Given the description of an element on the screen output the (x, y) to click on. 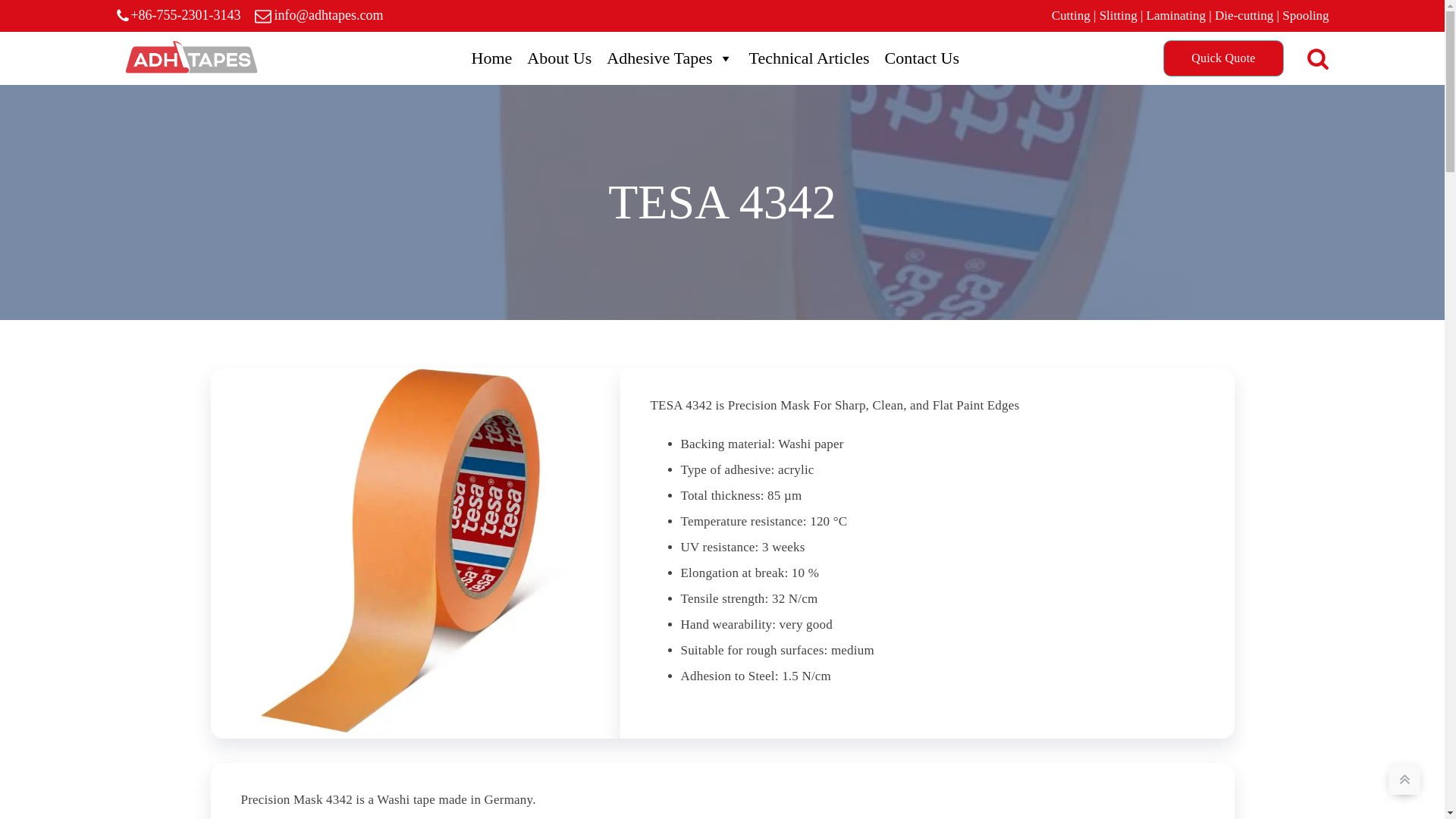
Contact Us (921, 58)
Technical Articles (808, 58)
About Us (558, 58)
Home (491, 58)
Quick Quote (1222, 58)
Adhesive Tapes (669, 58)
